Given the description of an element on the screen output the (x, y) to click on. 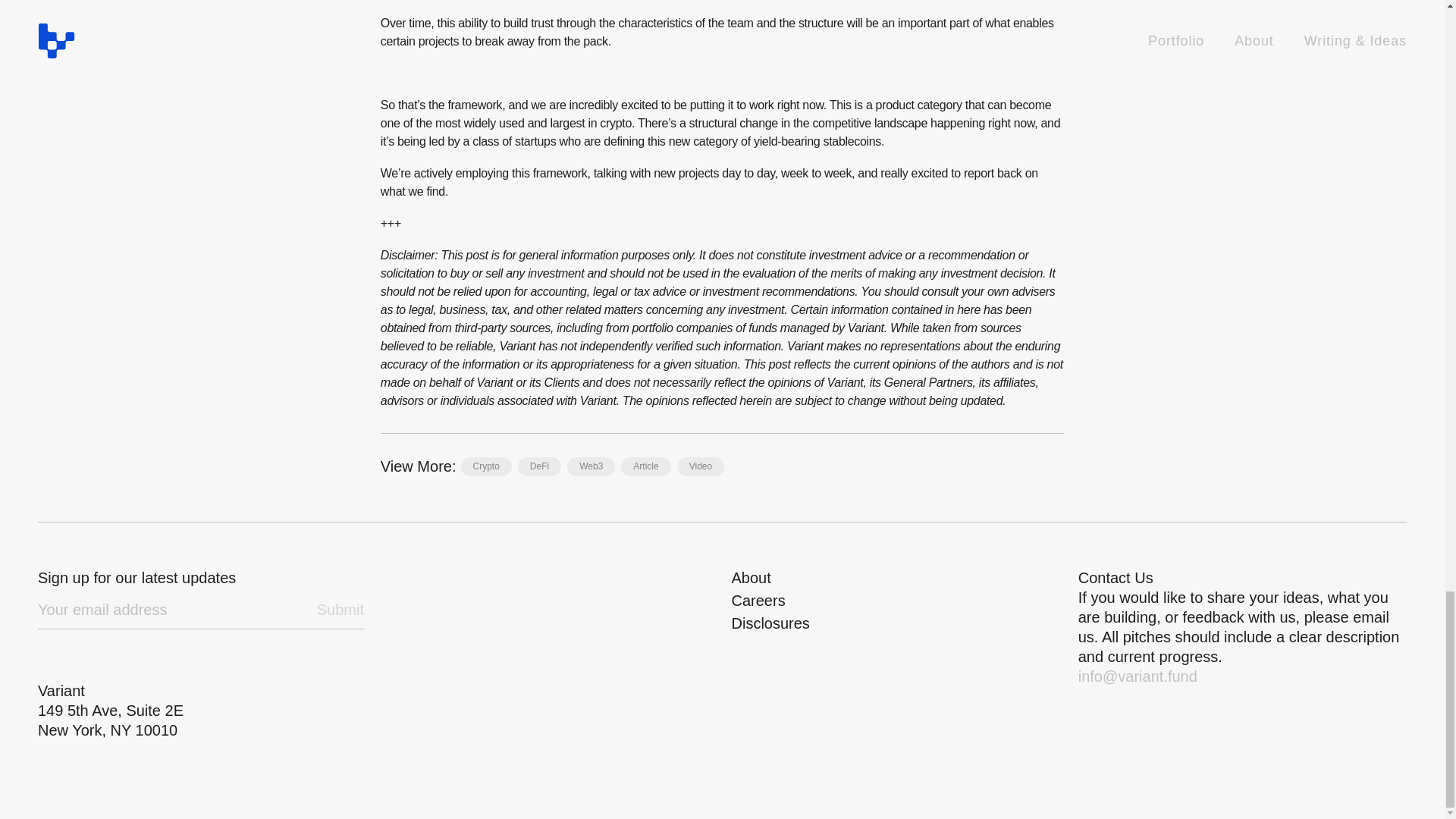
DeFi (539, 466)
Crypto (486, 466)
Article (645, 466)
Video (700, 466)
Submit (340, 609)
Careers (757, 600)
Web3 (590, 466)
Submit (340, 609)
Disclosures (769, 623)
About (750, 577)
